Given the description of an element on the screen output the (x, y) to click on. 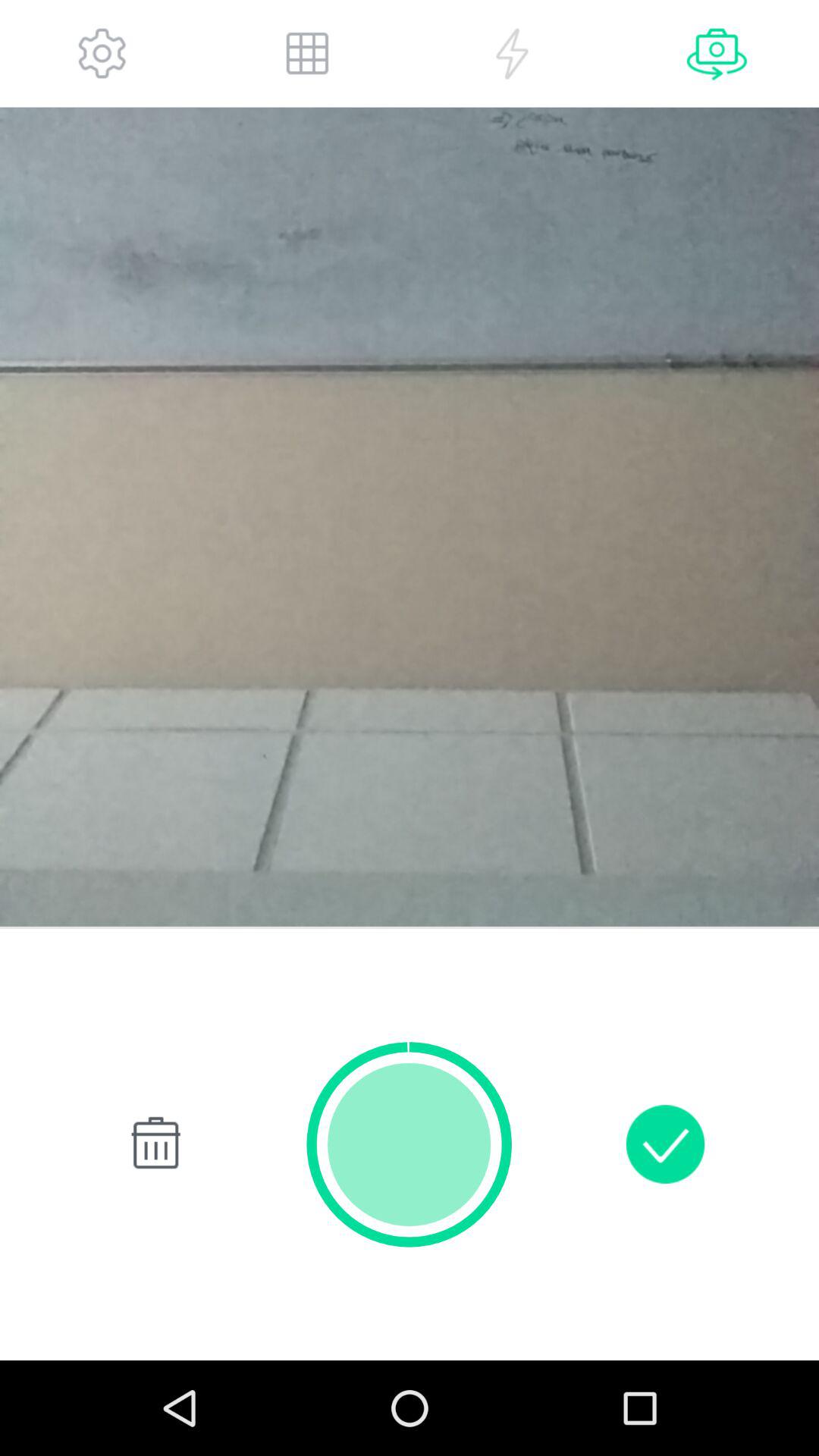
switch camera (716, 53)
